Given the description of an element on the screen output the (x, y) to click on. 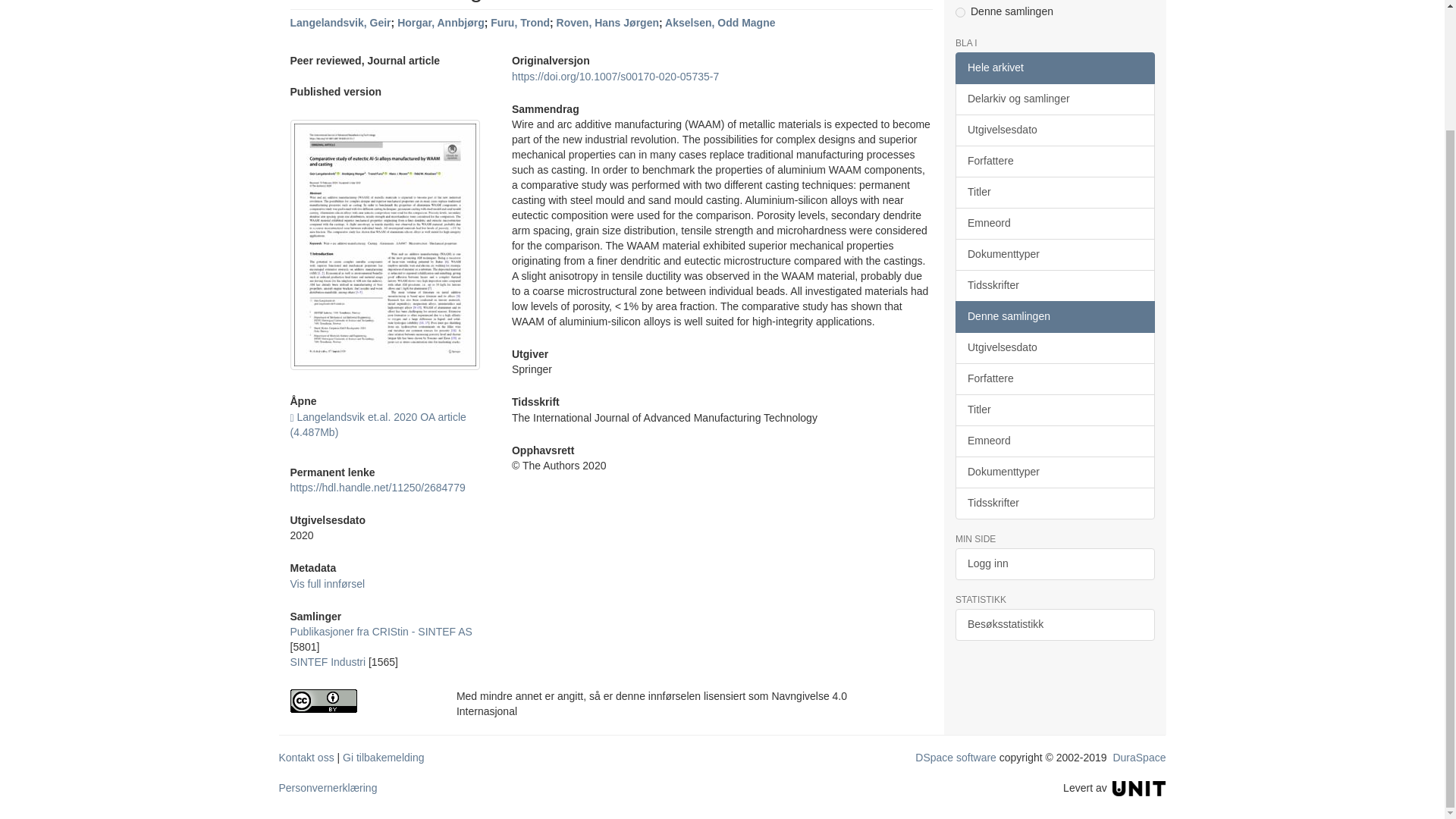
Langelandsvik, Geir (339, 22)
Navngivelse 4.0 Internasjonal (360, 700)
Furu, Trond (520, 22)
Unit (1139, 787)
Akselsen, Odd Magne (719, 22)
Publikasjoner fra CRIStin - SINTEF AS (380, 631)
SINTEF Industri (327, 662)
